Given the description of an element on the screen output the (x, y) to click on. 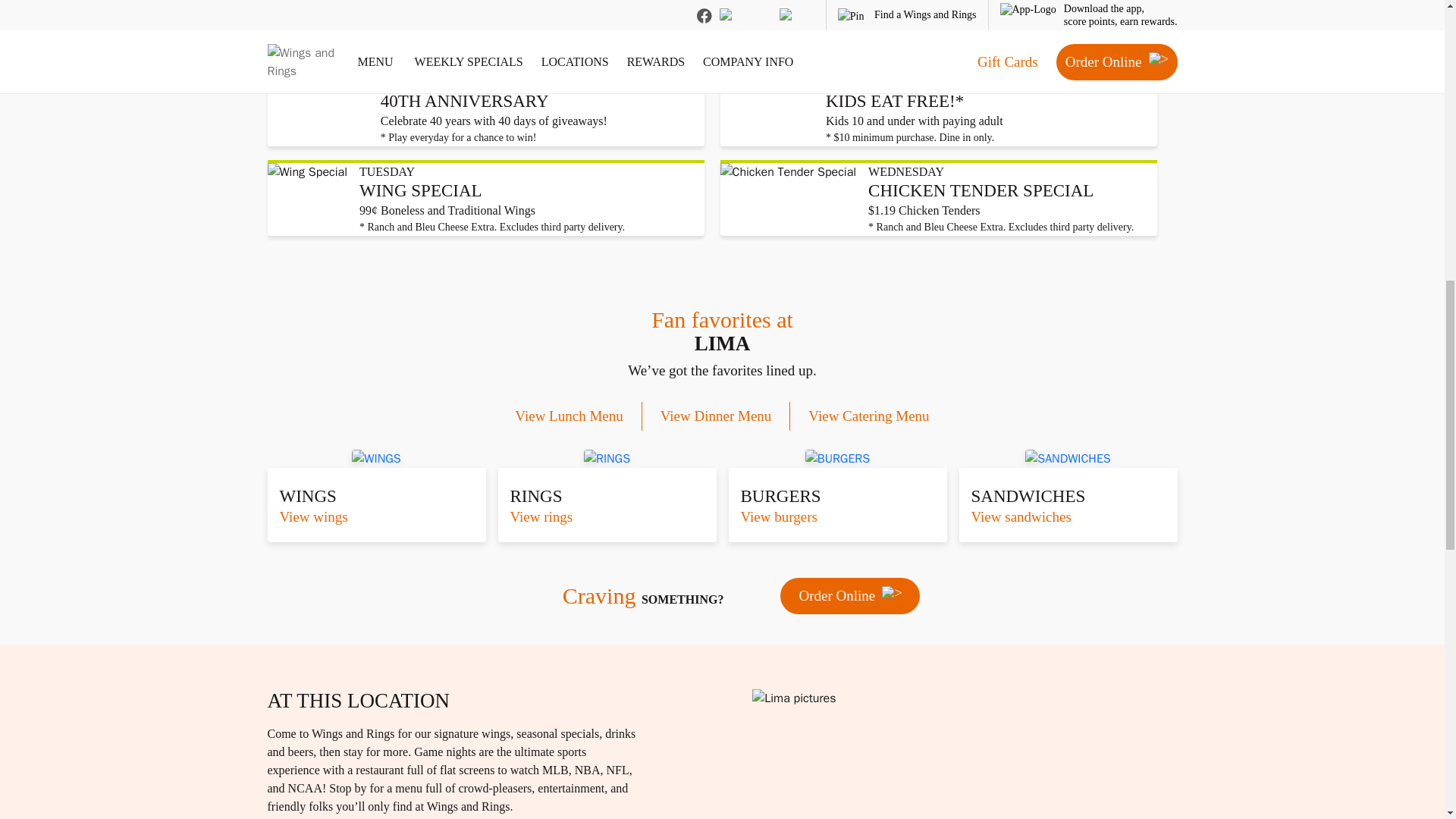
Chicken Wraps (765, 28)
BURGERS (837, 458)
SANDWICHES (1067, 458)
RINGS (606, 458)
Wing Special (306, 198)
40th Anniversary (317, 109)
Chicken Tender Special (788, 198)
WINGS (376, 458)
